Given the description of an element on the screen output the (x, y) to click on. 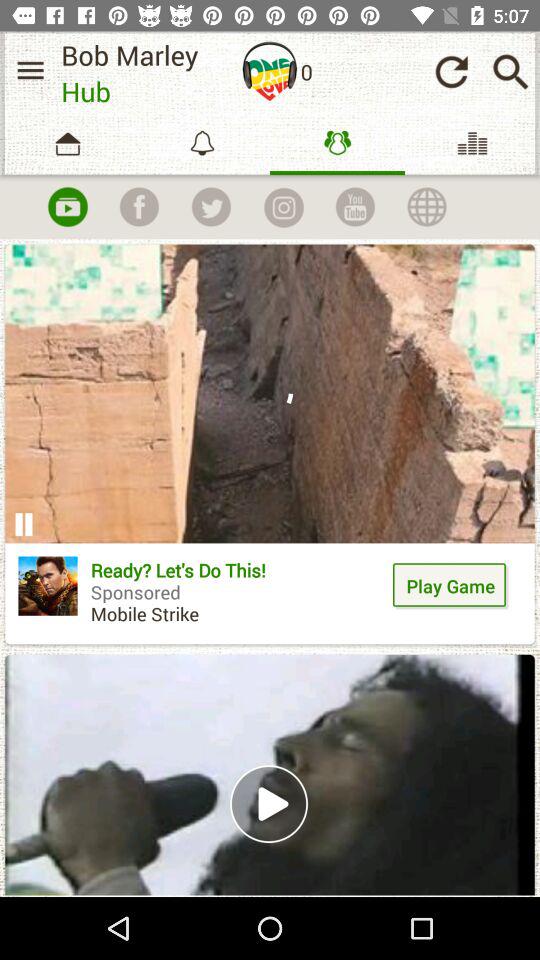
open icon below the ready let s item (269, 774)
